Given the description of an element on the screen output the (x, y) to click on. 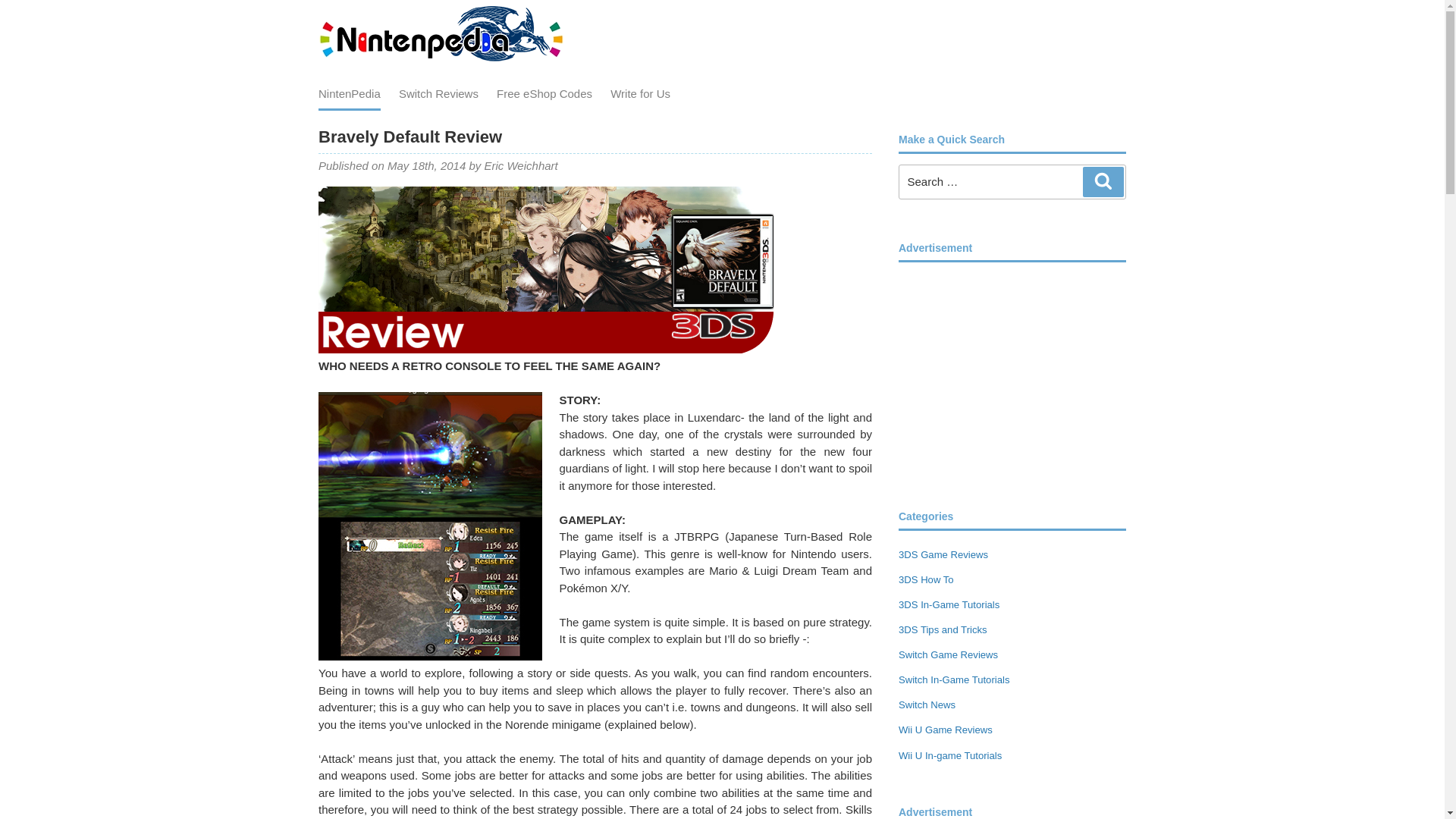
Search (1103, 182)
Switch In-Game Tutorials (953, 679)
3DS In-Game Tutorials (948, 604)
3DS Tips and Tricks (942, 629)
Wii U In-game Tutorials (949, 755)
Free eShop Codes (544, 93)
3DS Game Reviews (943, 554)
NintenPedia (349, 94)
Switch Game Reviews (947, 654)
Wii U Game Reviews (945, 729)
